Given the description of an element on the screen output the (x, y) to click on. 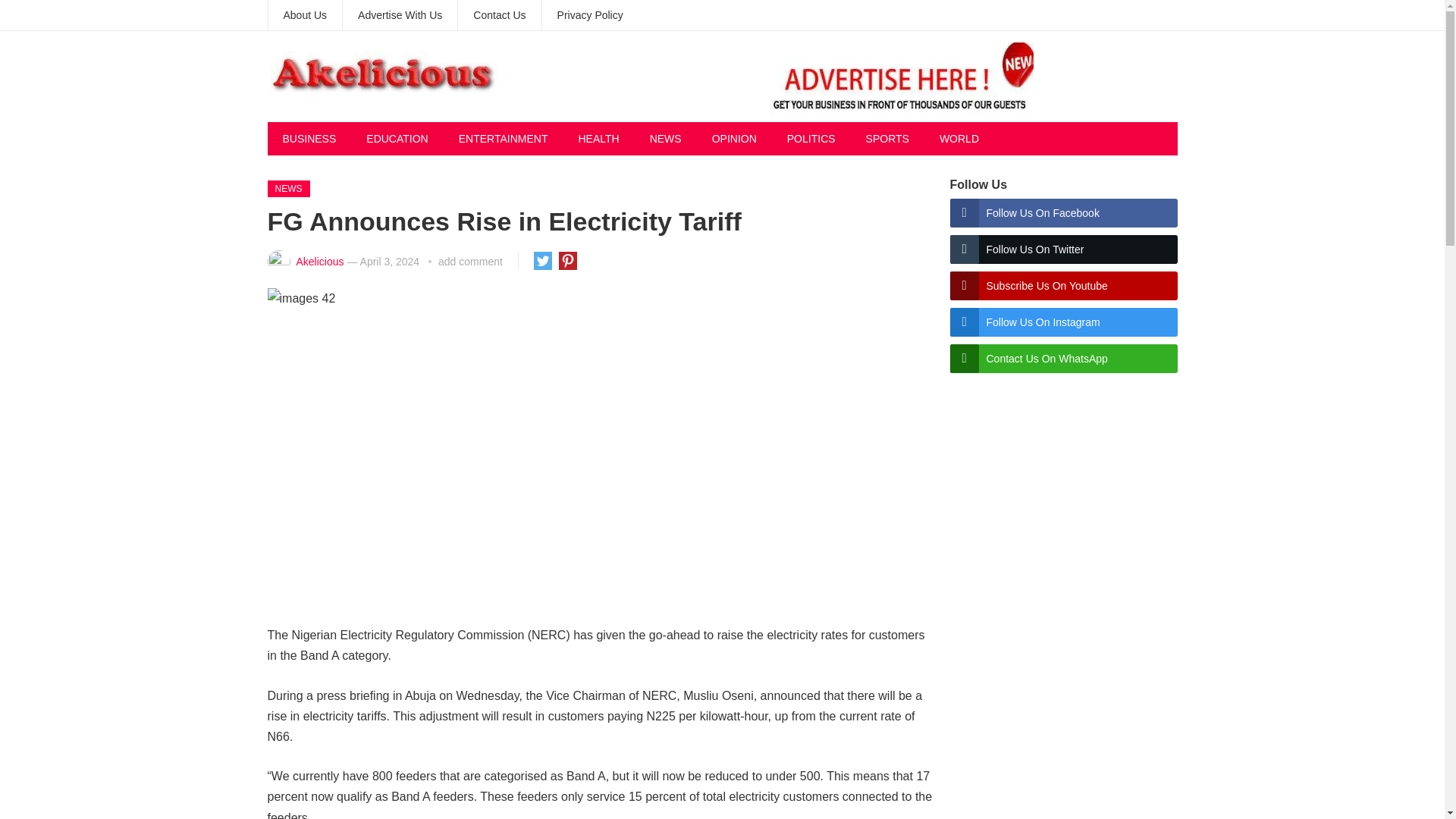
ENTERTAINMENT (503, 138)
Akelicious (319, 261)
About Us (304, 15)
HEALTH (597, 138)
Contact Us (499, 15)
WORLD (959, 138)
Advertise With Us (399, 15)
Privacy Policy (590, 15)
NEWS (665, 138)
View all posts in News (287, 188)
NEWS (287, 188)
OPINION (734, 138)
EDUCATION (396, 138)
Posts by Akelicious (319, 261)
SPORTS (887, 138)
